Given the description of an element on the screen output the (x, y) to click on. 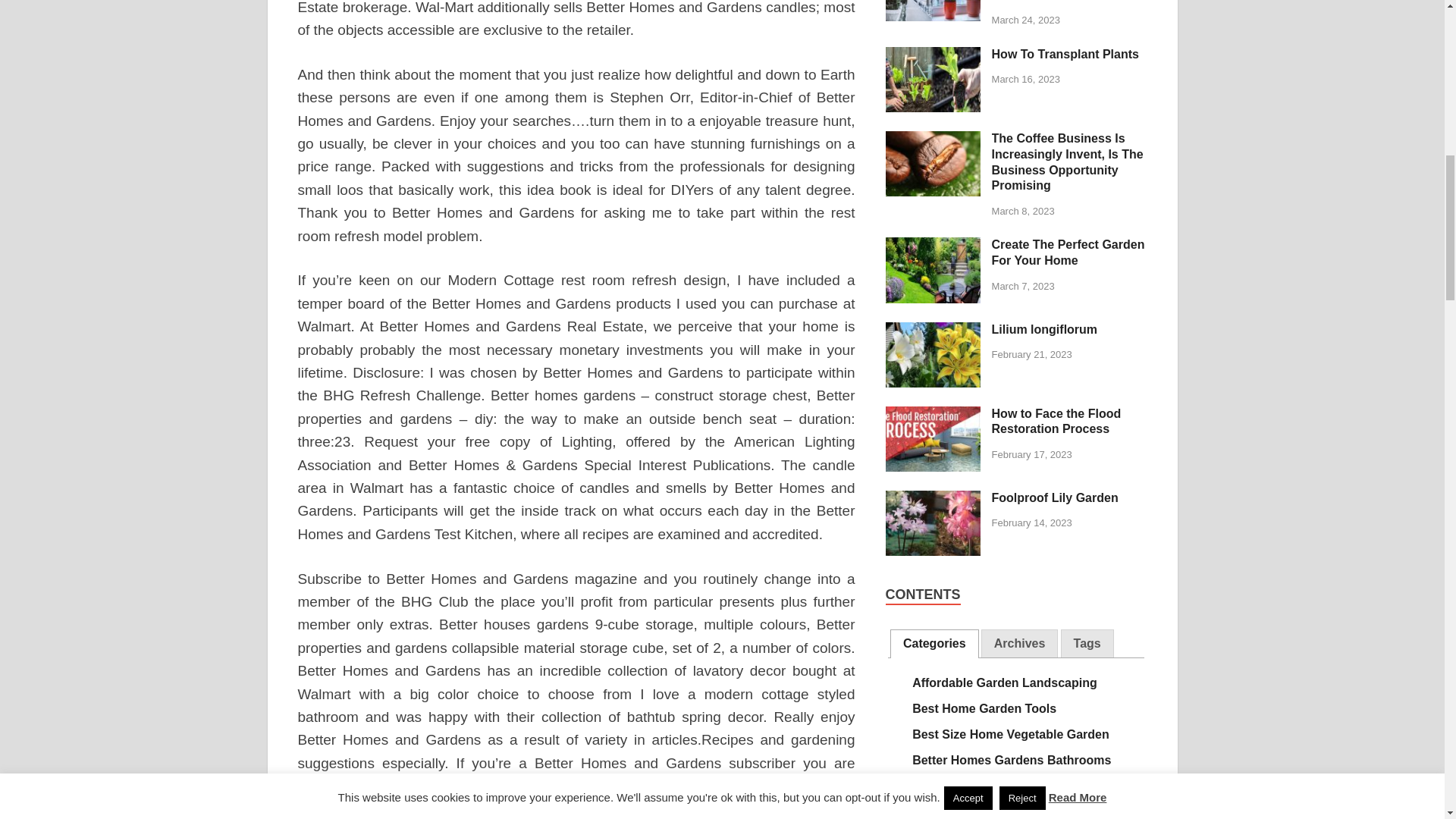
Lilium longiflorum (932, 330)
Foolproof Lily Garden (932, 499)
How to Face the Flood Restoration Process (932, 414)
Create The Perfect Garden For Your Home (932, 245)
How To Transplant Plants (932, 55)
